Given the description of an element on the screen output the (x, y) to click on. 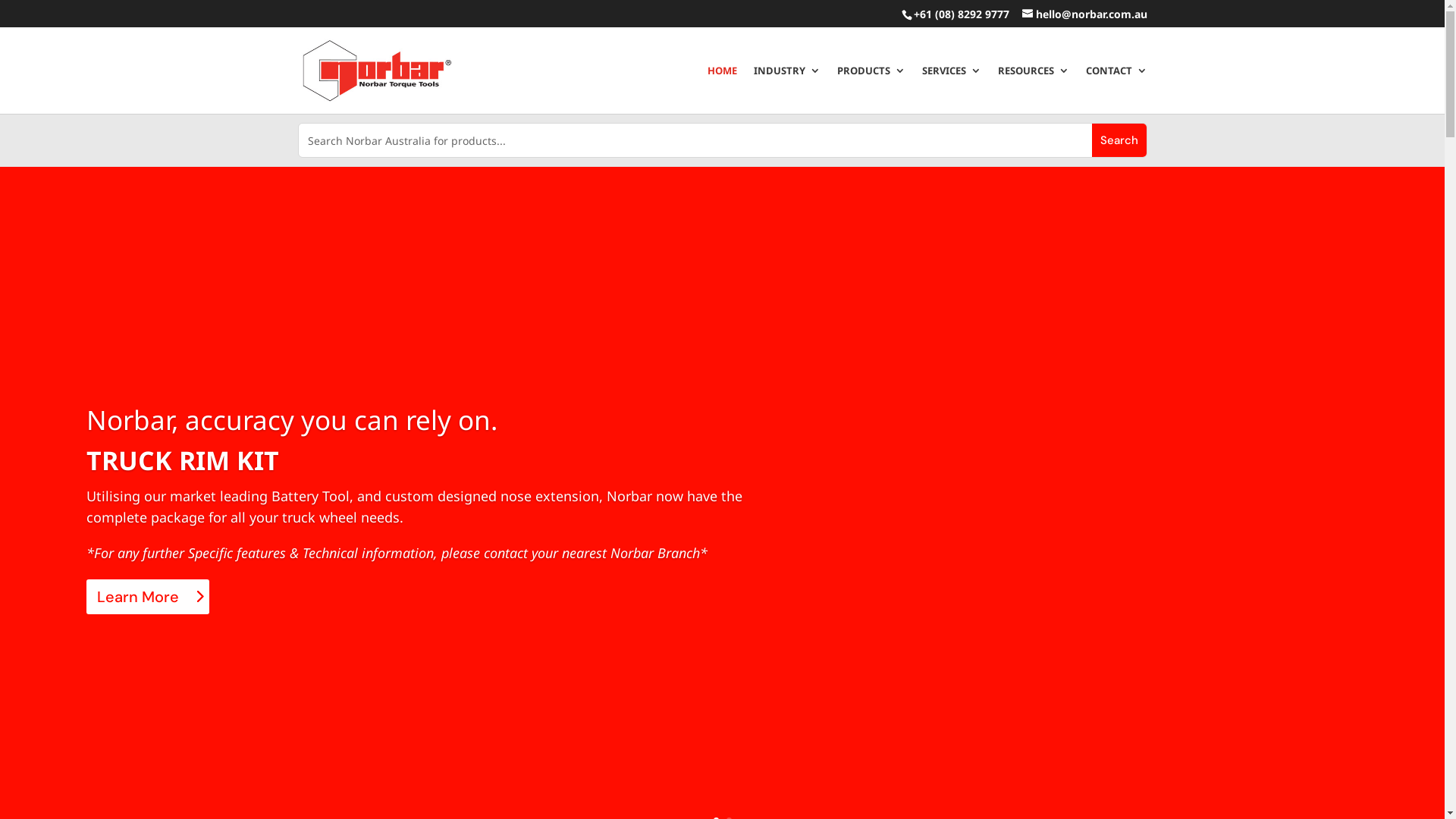
SERVICES Element type: text (951, 89)
INDUSTRY Element type: text (786, 89)
+61 (08) 8292 9777 Element type: text (960, 13)
CONTACT Element type: text (1116, 89)
Learn More Element type: text (147, 596)
HOME Element type: text (721, 89)
Search Element type: text (1118, 139)
RESOURCES Element type: text (1033, 89)
PRODUCTS Element type: text (871, 89)
hello@norbar.com.au Element type: text (1084, 13)
Norbar, accuracy you can rely on. Element type: text (291, 419)
